Given the description of an element on the screen output the (x, y) to click on. 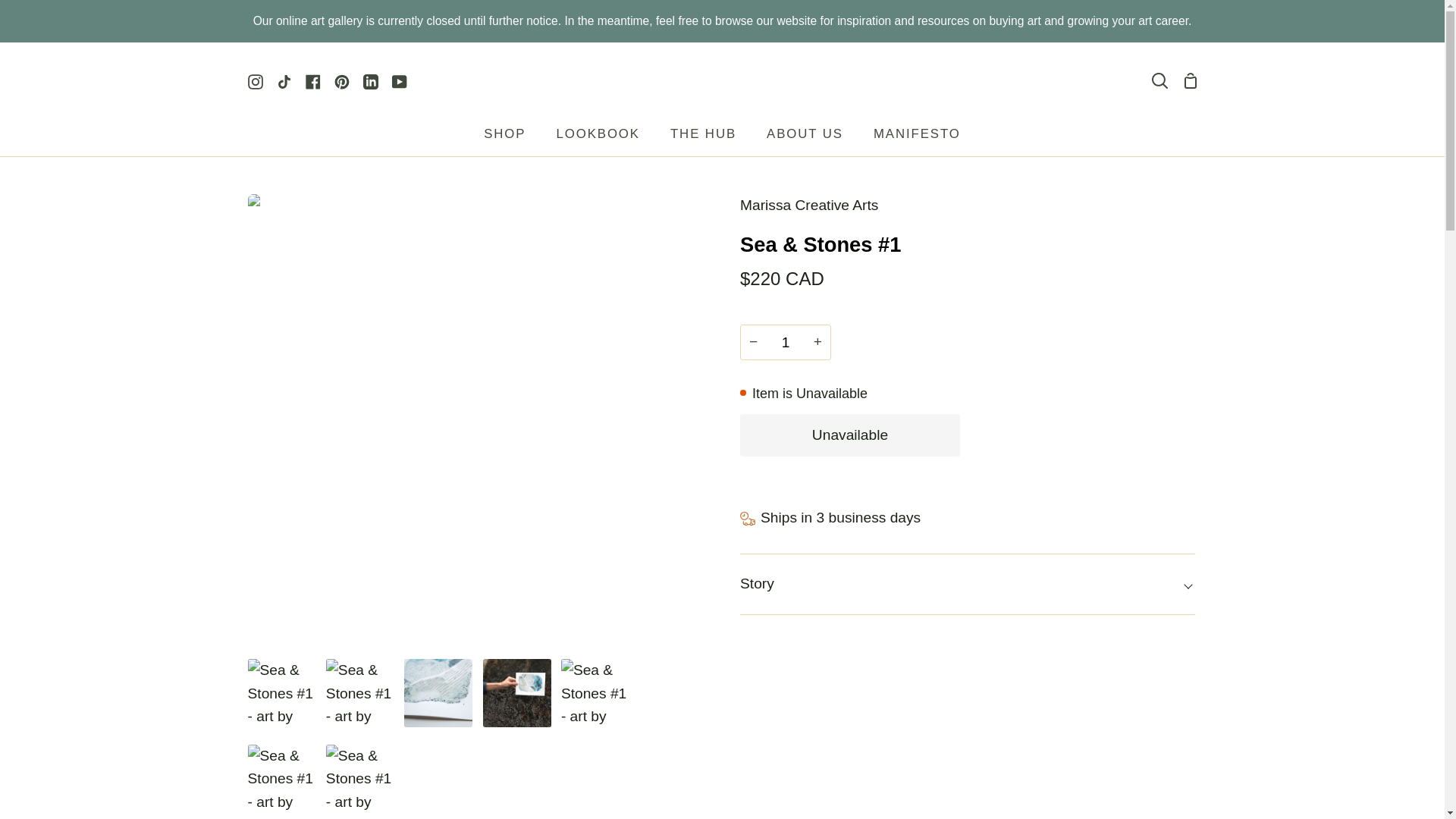
THE HUB (703, 137)
MANIFESTO (917, 137)
1 (785, 342)
LOOKBOOK (596, 137)
SHOP (504, 137)
ABOUT US (805, 137)
